Given the description of an element on the screen output the (x, y) to click on. 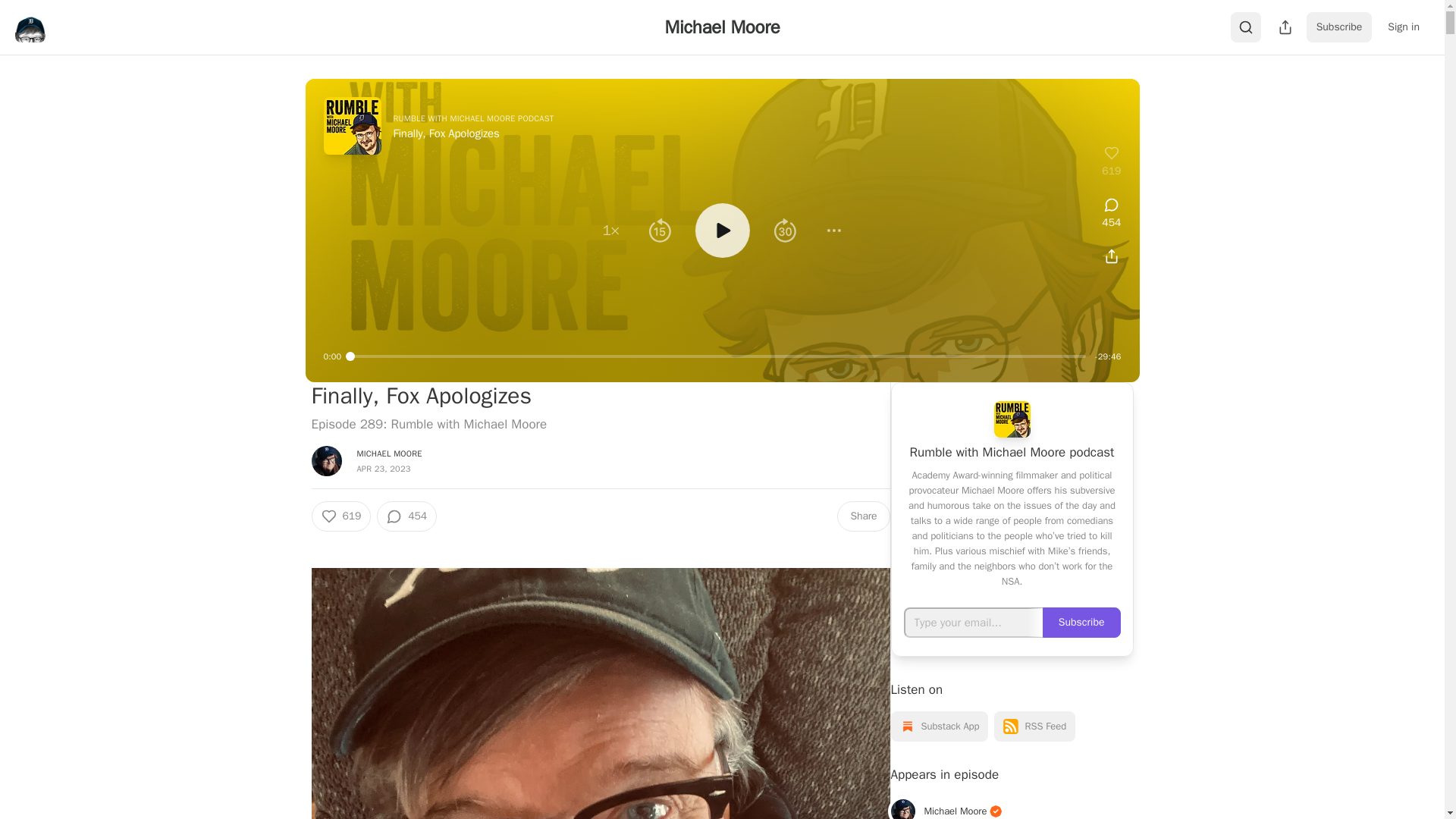
MICHAEL MOORE (389, 452)
454 (1111, 213)
Michael Moore (722, 26)
Sign in (1403, 27)
619 (341, 516)
619 (1111, 162)
454 (406, 516)
Subscribe (1339, 27)
Share (863, 516)
